Given the description of an element on the screen output the (x, y) to click on. 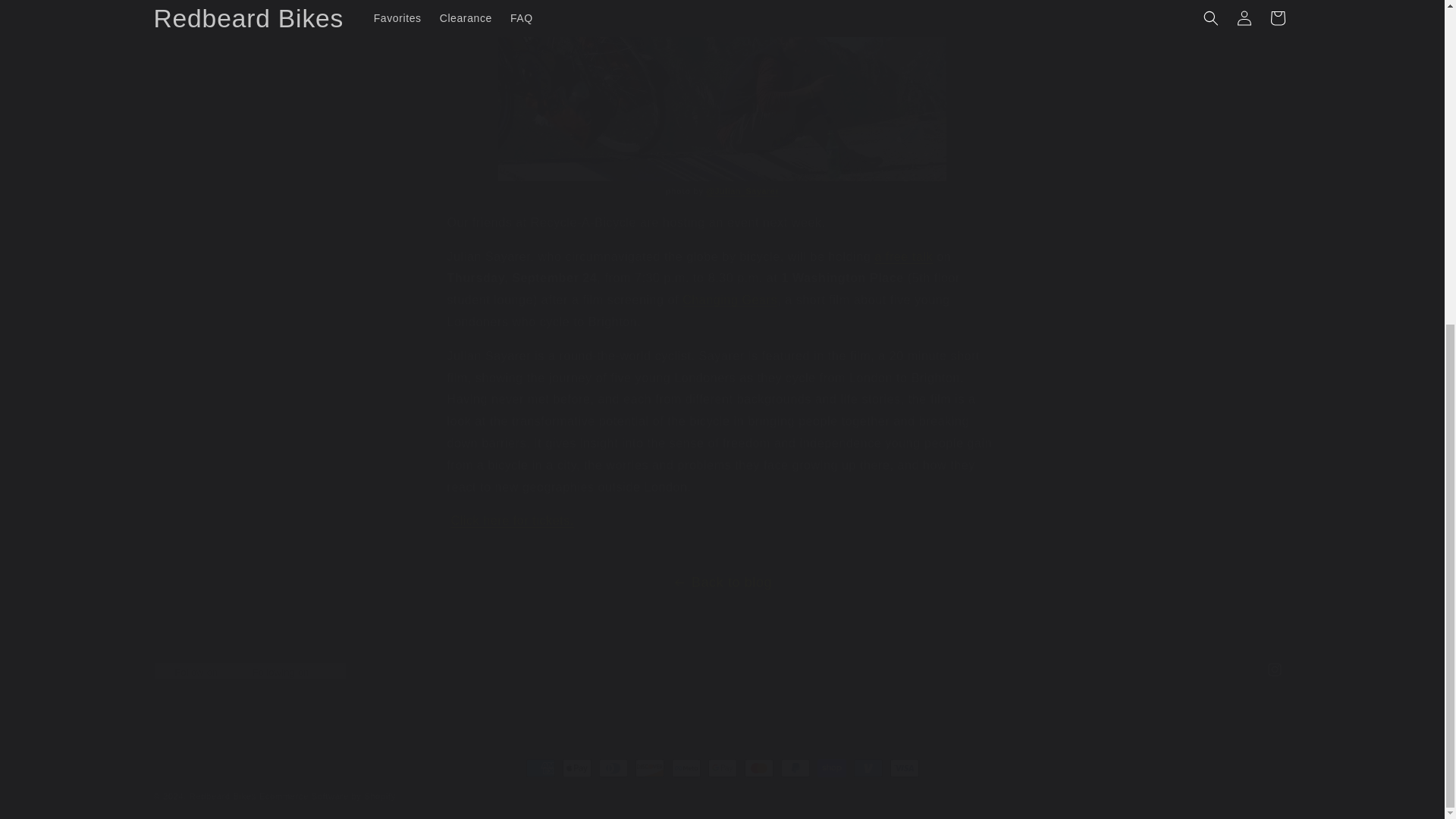
a free talk (904, 256)
Ecommerce Software by Shopify (327, 795)
Instagram (721, 669)
Redbeard Bikes (222, 795)
Instagram (1273, 669)
Click here for tickets. (512, 520)
Changing Gears (729, 299)
